Given the description of an element on the screen output the (x, y) to click on. 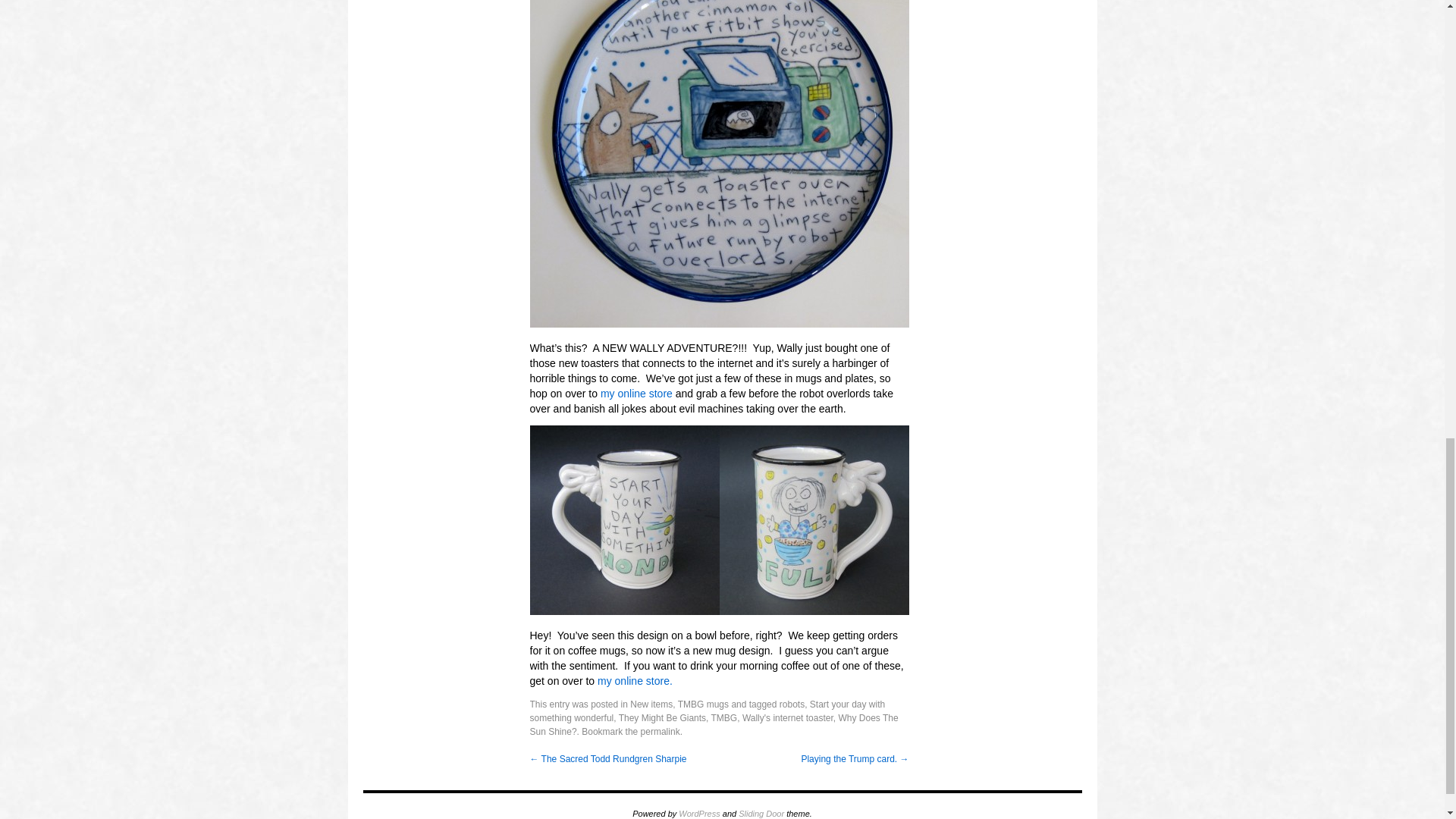
WonderfulM3 (813, 520)
Permalink to Nuclear Fusion, Evil Robots and Morning Coffee. (659, 731)
wonderfulM1 (624, 520)
toasterplatebig (718, 163)
